Given the description of an element on the screen output the (x, y) to click on. 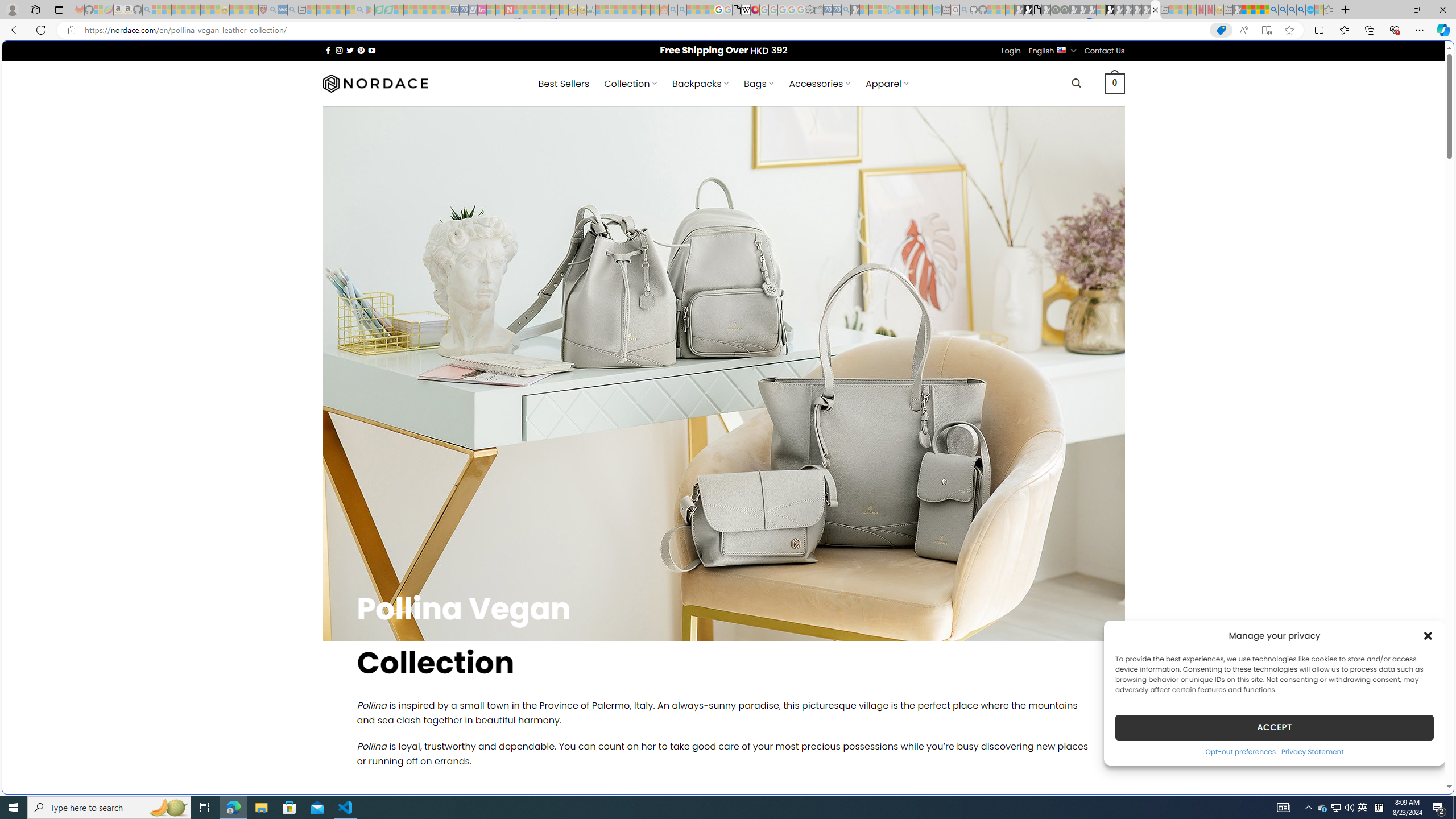
MSNBC - MSN - Sleeping (600, 9)
 0  (1115, 83)
Future Focus Report 2024 - Sleeping (1064, 9)
Frequently visited (965, 151)
